Given the description of an element on the screen output the (x, y) to click on. 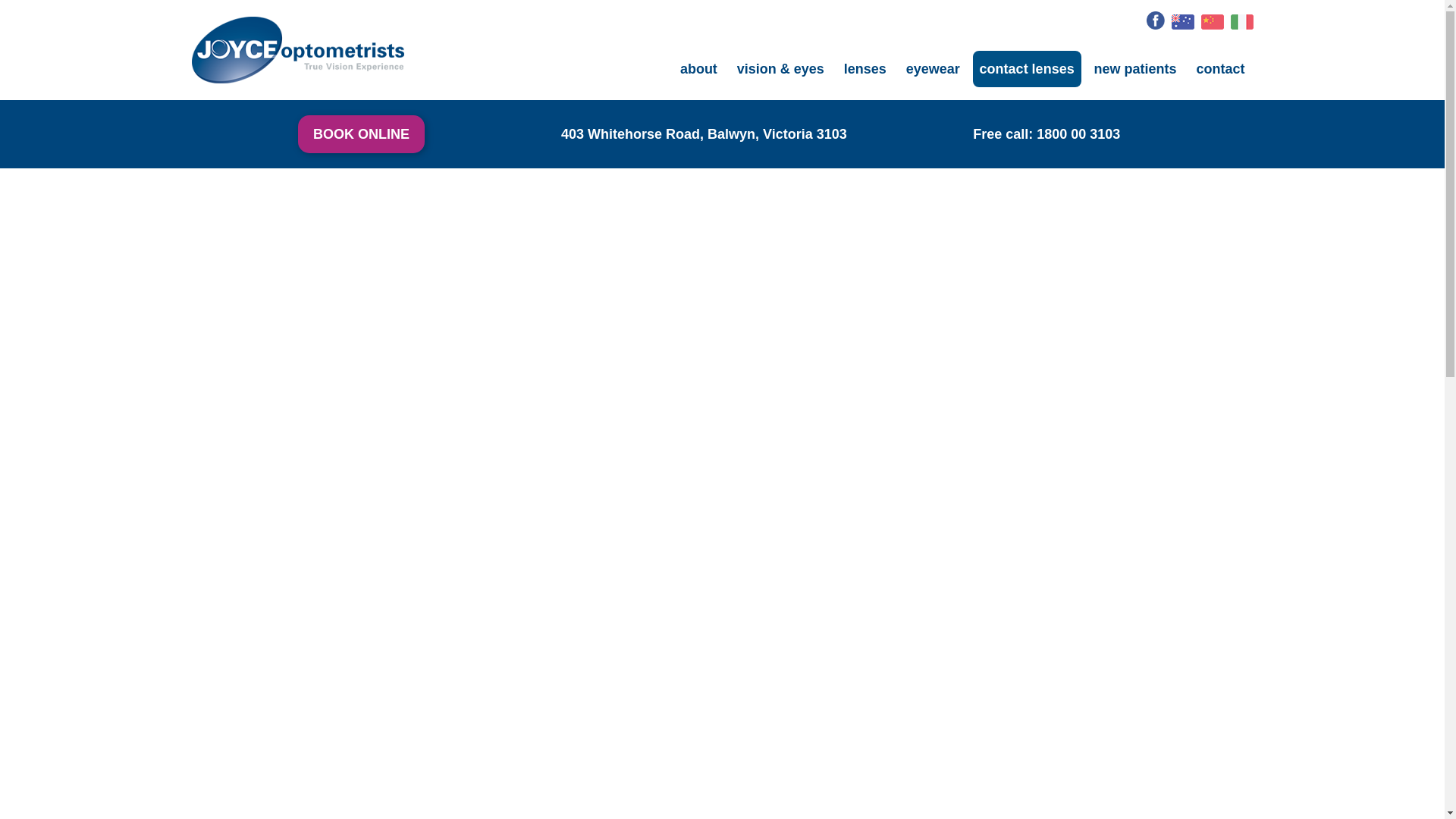
Translate this page into Chinese Element type: hover (1212, 21)
vision & eyes Element type: text (780, 68)
contact lenses Element type: text (1026, 68)
Home Element type: hover (660, 71)
BOOK ONLINE Element type: text (361, 134)
contact Element type: text (1219, 68)
Translate this page into Italian Element type: hover (1241, 21)
Translate this page into English Element type: hover (1182, 21)
new patients Element type: text (1135, 68)
lenses Element type: text (864, 68)
about Element type: text (698, 68)
eyewear Element type: text (932, 68)
JOYCE Optometrists Element type: hover (297, 41)
